Given the description of an element on the screen output the (x, y) to click on. 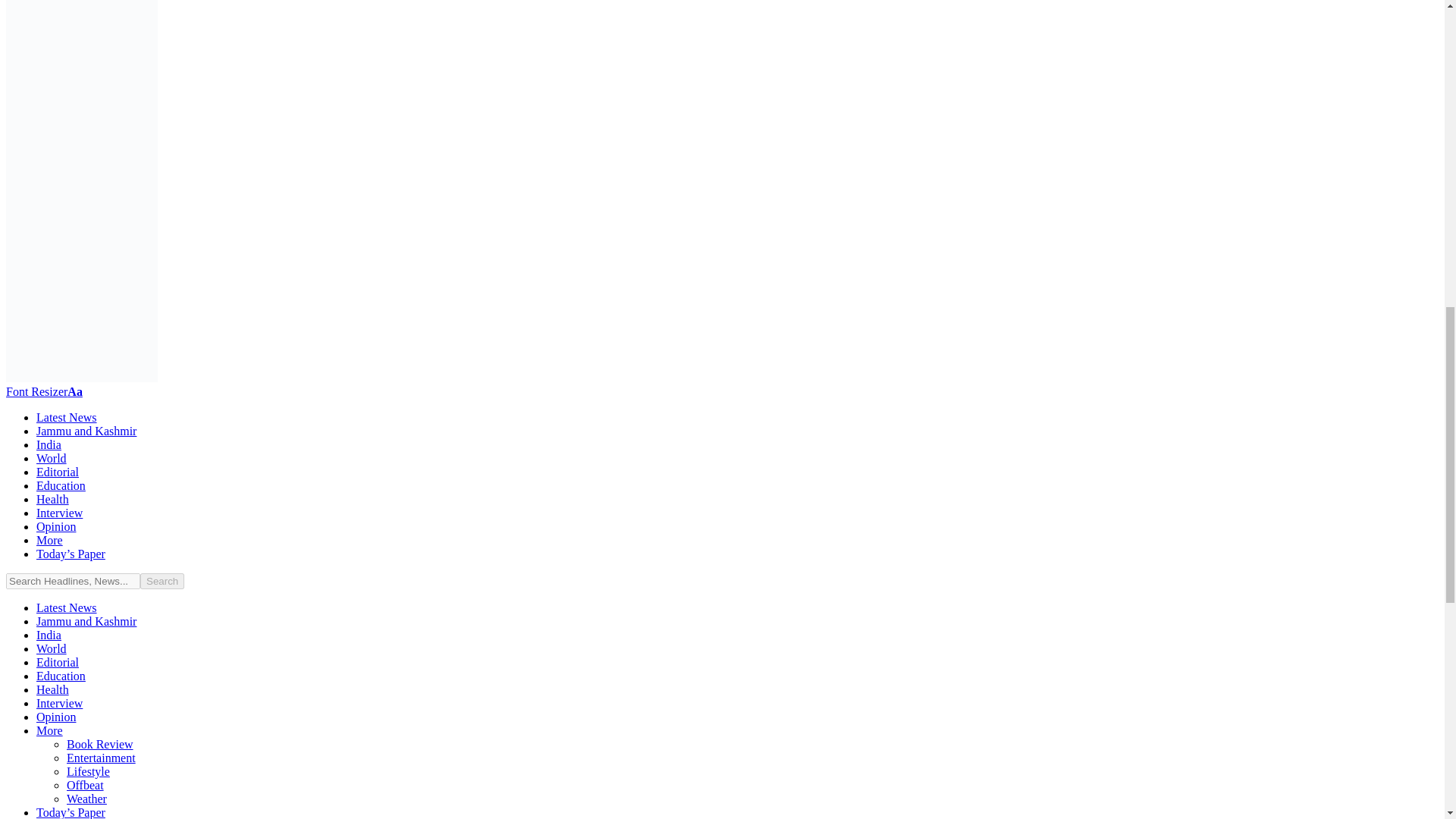
Search (161, 580)
Latest News (66, 417)
Font ResizerAa (43, 391)
Buzz Bytes (81, 377)
Jammu and Kashmir (86, 431)
World (51, 458)
India (48, 444)
Editorial (57, 472)
